Given the description of an element on the screen output the (x, y) to click on. 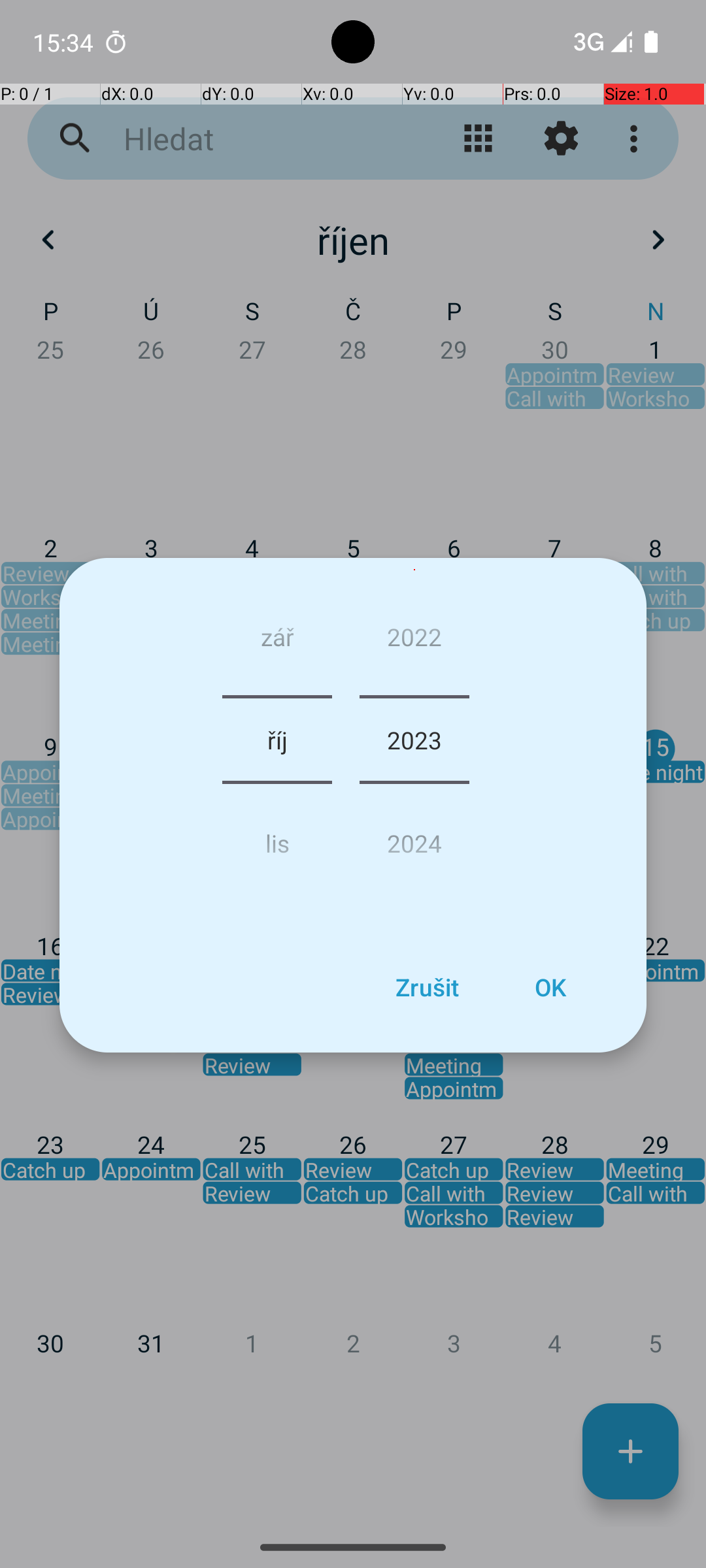
zář Element type: android.widget.Button (277, 641)
říj Element type: android.widget.EditText (277, 739)
lis Element type: android.widget.Button (277, 837)
